Given the description of an element on the screen output the (x, y) to click on. 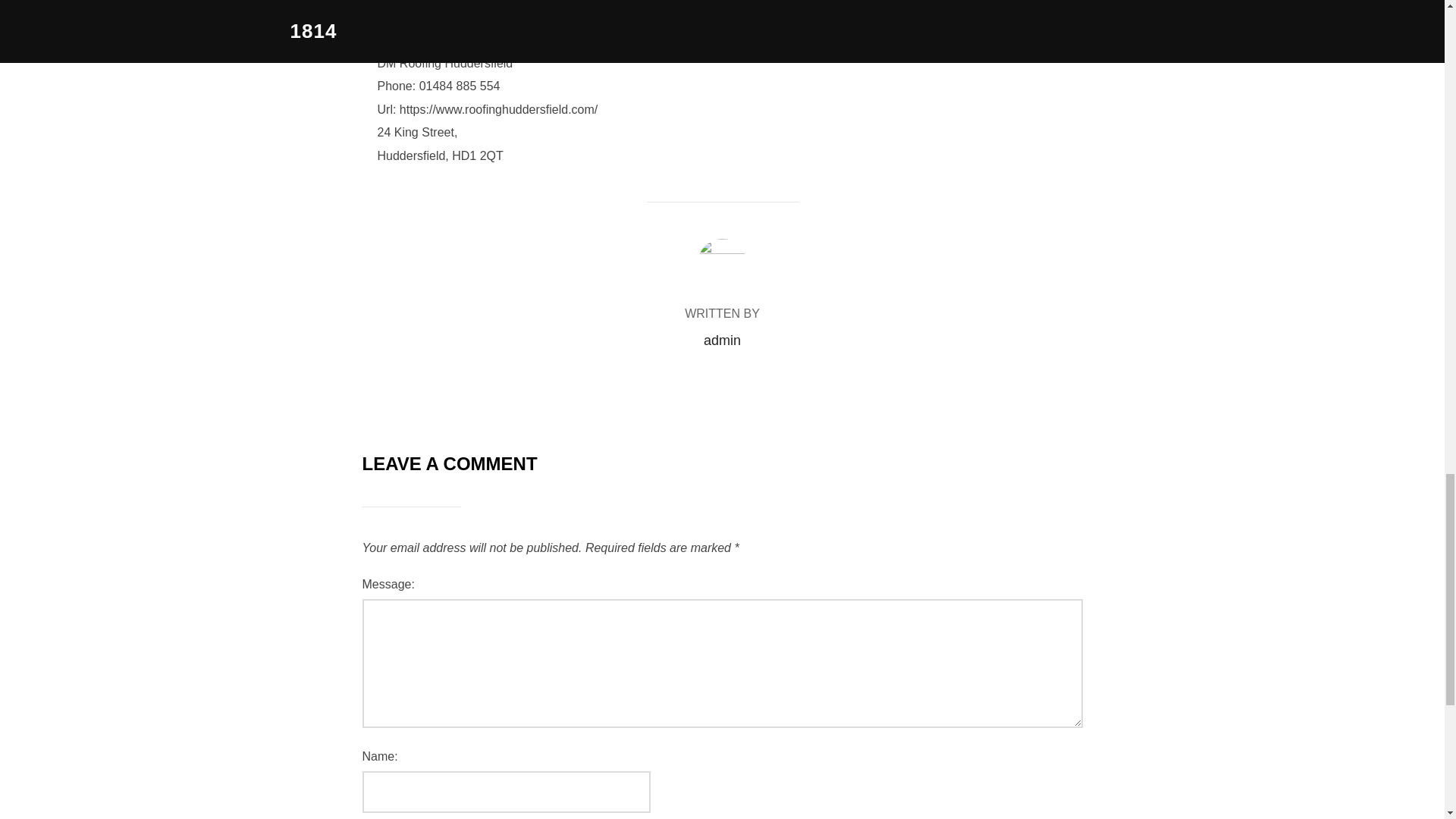
admin (722, 340)
Posts by admin (722, 340)
